Given the description of an element on the screen output the (x, y) to click on. 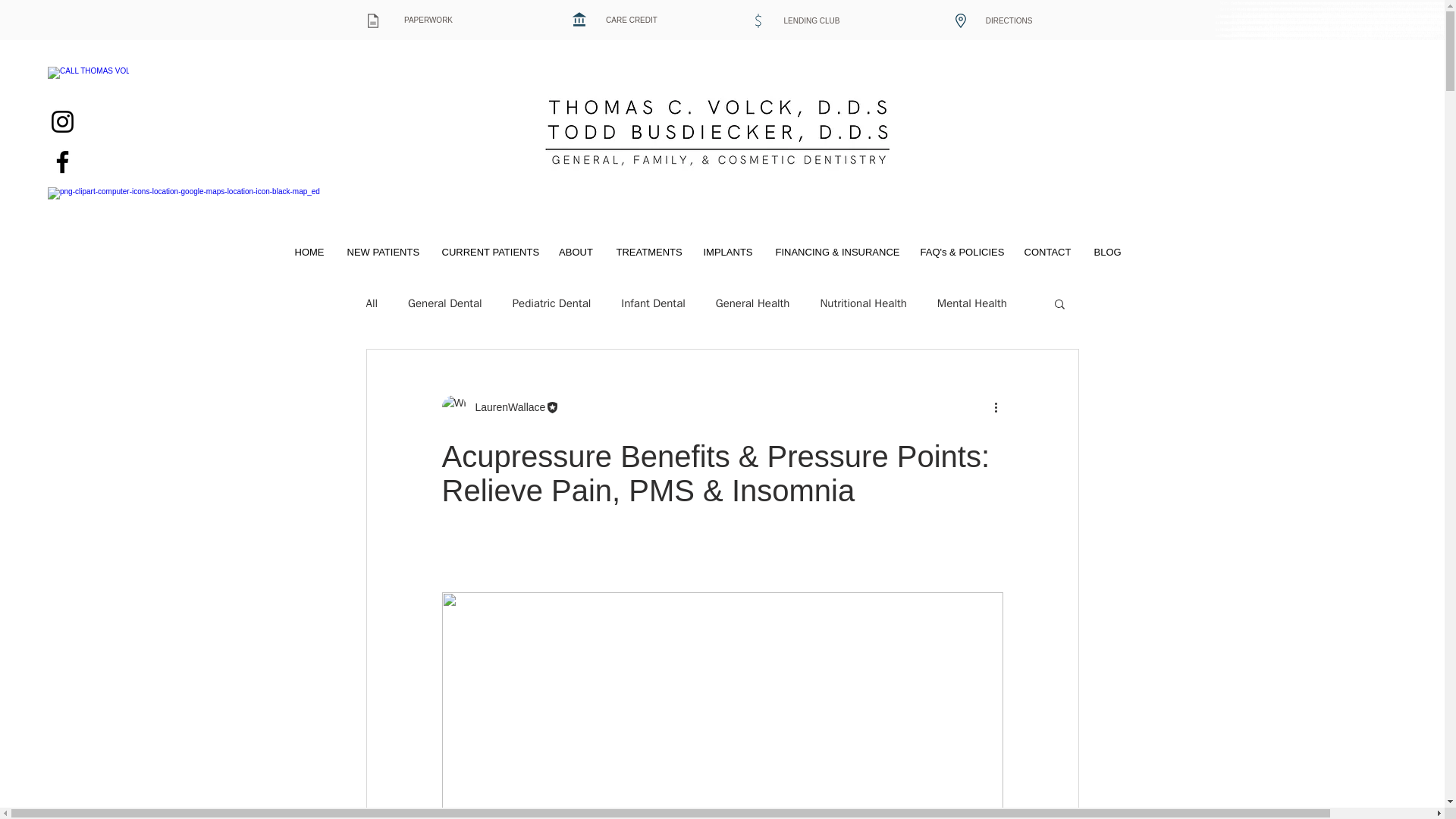
IMPLANTS (726, 252)
General Dental (444, 303)
General Health (753, 303)
All (371, 303)
LENDING CLUB (812, 20)
BLOG (1107, 252)
CURRENT PATIENTS (488, 252)
HOME (309, 252)
Mental Health (972, 303)
TREATMENTS (649, 252)
LaurenWallace (504, 407)
CONTACT (1048, 252)
PAPERWORK (428, 20)
DIRECTIONS (1008, 20)
Nutritional Health (862, 303)
